Given the description of an element on the screen output the (x, y) to click on. 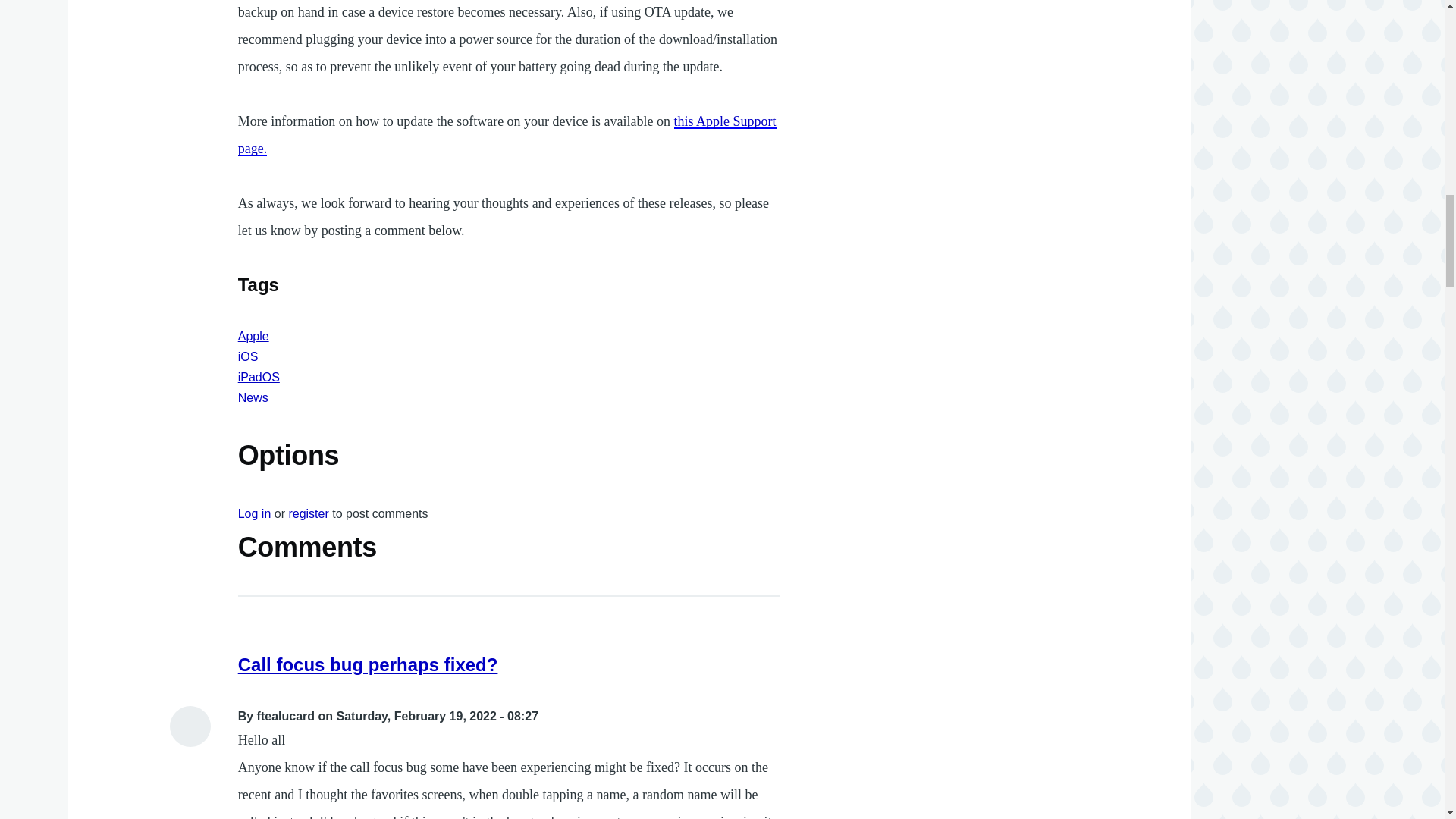
News (252, 397)
Call focus bug perhaps fixed? (367, 664)
iPadOS (258, 377)
iOS (248, 356)
register (308, 513)
Apple (253, 336)
this Apple Support page. (507, 134)
Log in (254, 513)
